Given the description of an element on the screen output the (x, y) to click on. 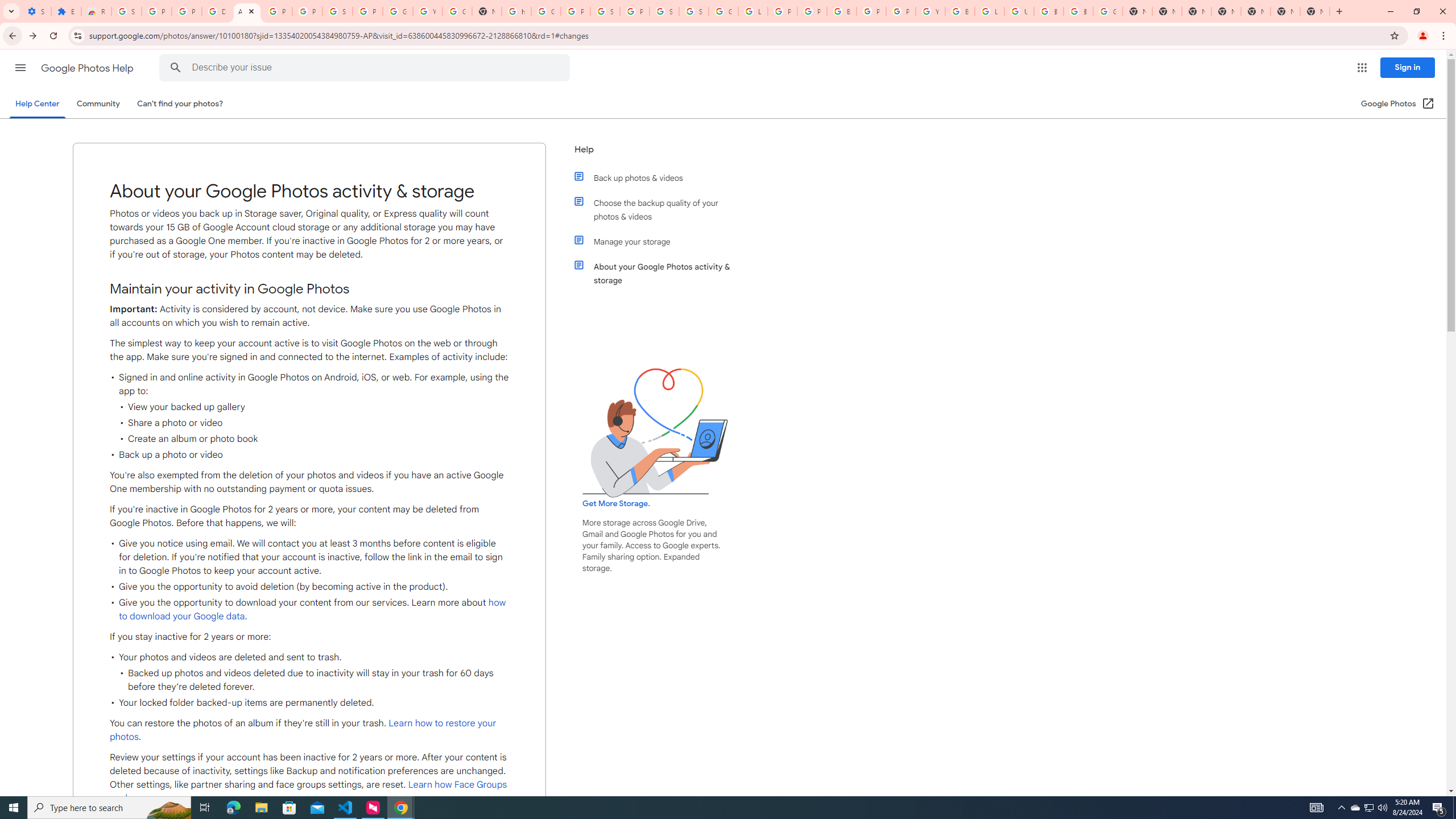
Browse Chrome as a guest - Computer - Google Chrome Help (959, 11)
Google Photos (Open in a new window) (1397, 103)
Sign in - Google Accounts (126, 11)
Privacy Help Center - Policies Help (782, 11)
Can't find your photos? (180, 103)
Learn how Face Groups works (307, 791)
Google apps (1362, 67)
YouTube (930, 11)
